Given the description of an element on the screen output the (x, y) to click on. 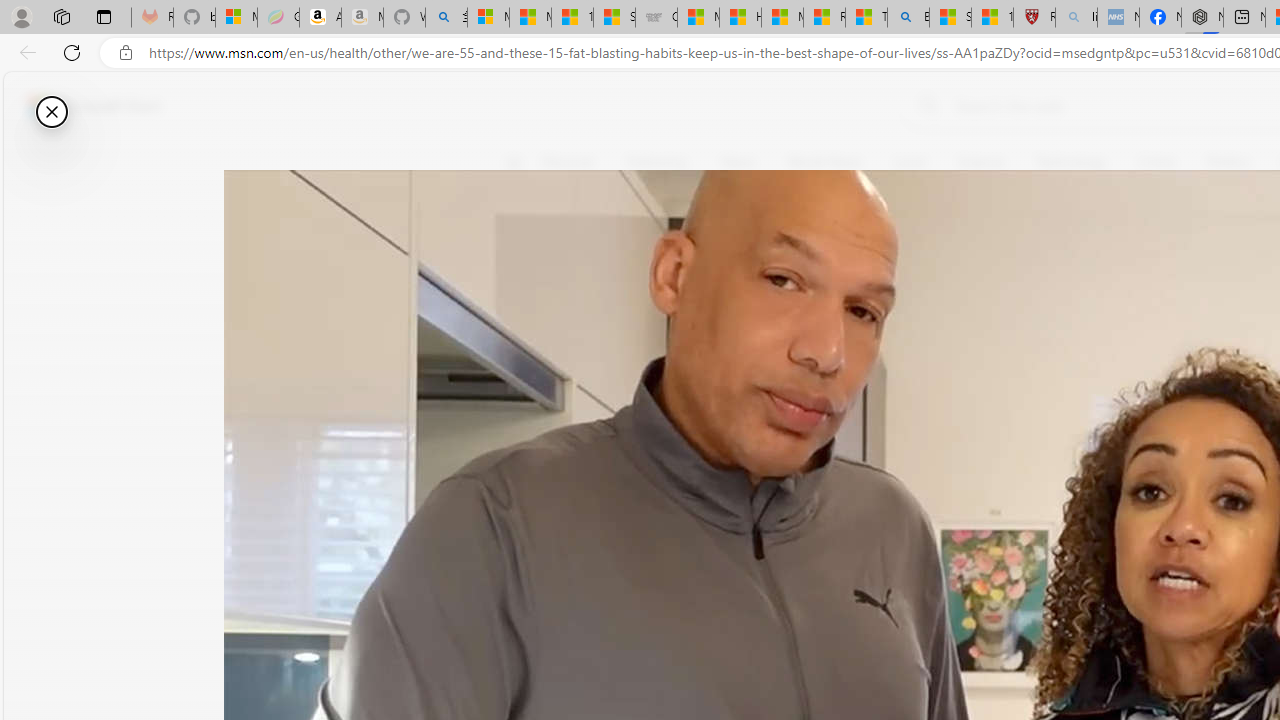
Body Network (788, 259)
Follow (909, 258)
6 Like (525, 244)
Crime (1156, 162)
12 Popular Science Lies that Must be Corrected (991, 17)
